Given the description of an element on the screen output the (x, y) to click on. 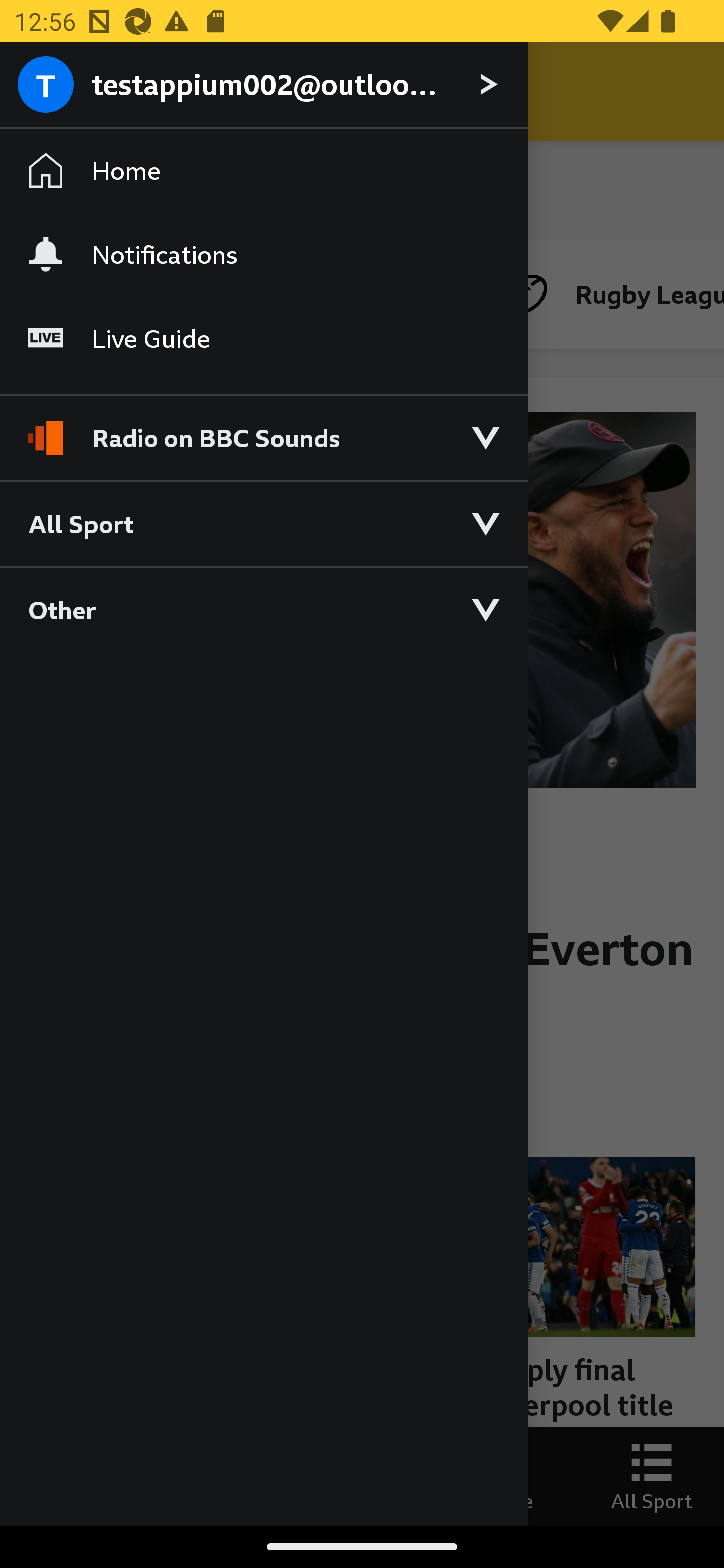
testappium002@outlook.com (263, 85)
Home (263, 170)
Notifications (263, 253)
Live Guide (263, 338)
Radio on BBC Sounds (263, 429)
All Sport (263, 522)
Other (263, 609)
